Given the description of an element on the screen output the (x, y) to click on. 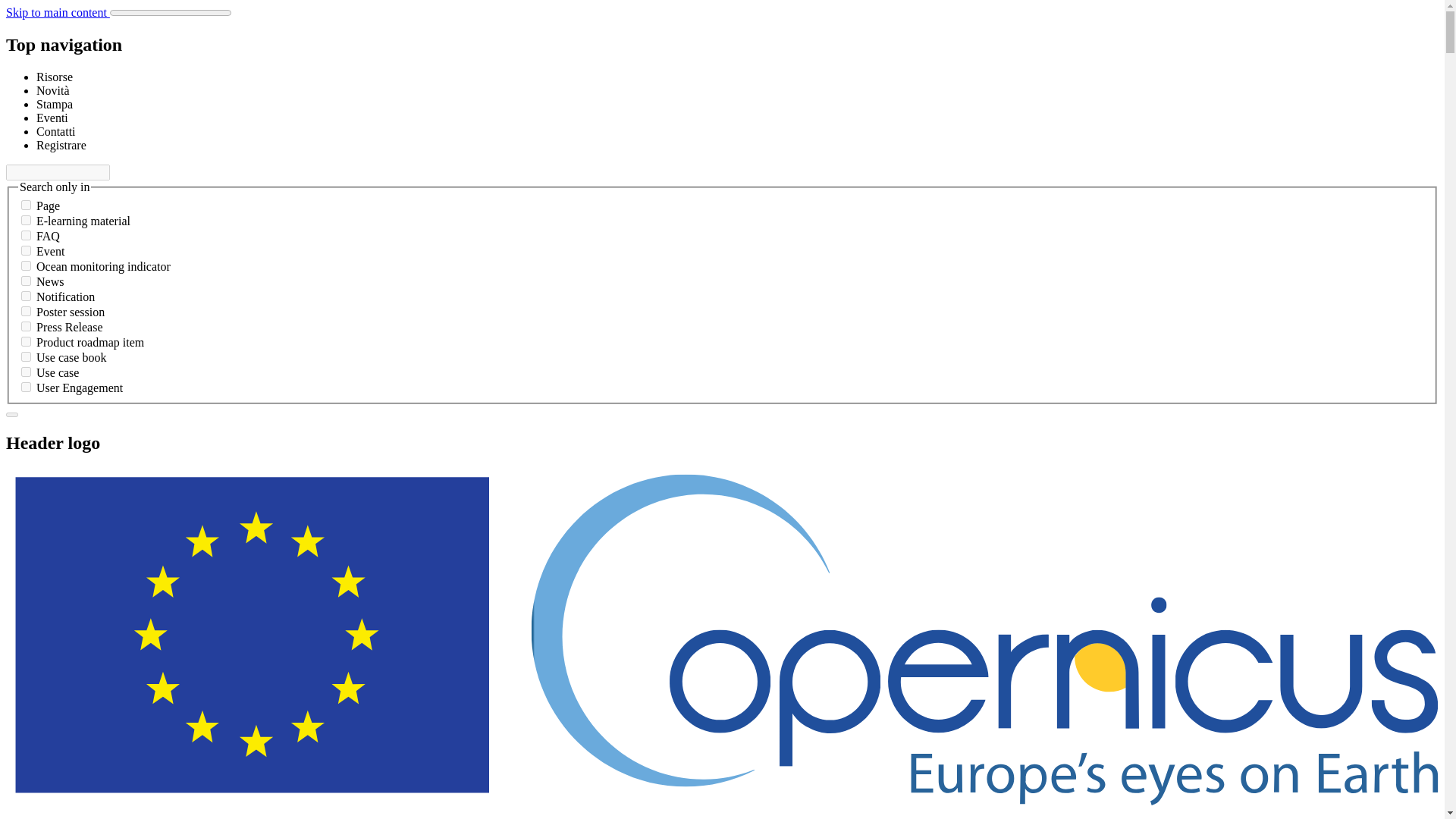
page (25, 204)
Search (11, 414)
faq (25, 235)
Events and trainings (52, 117)
Skip to main content (57, 11)
